Given the description of an element on the screen output the (x, y) to click on. 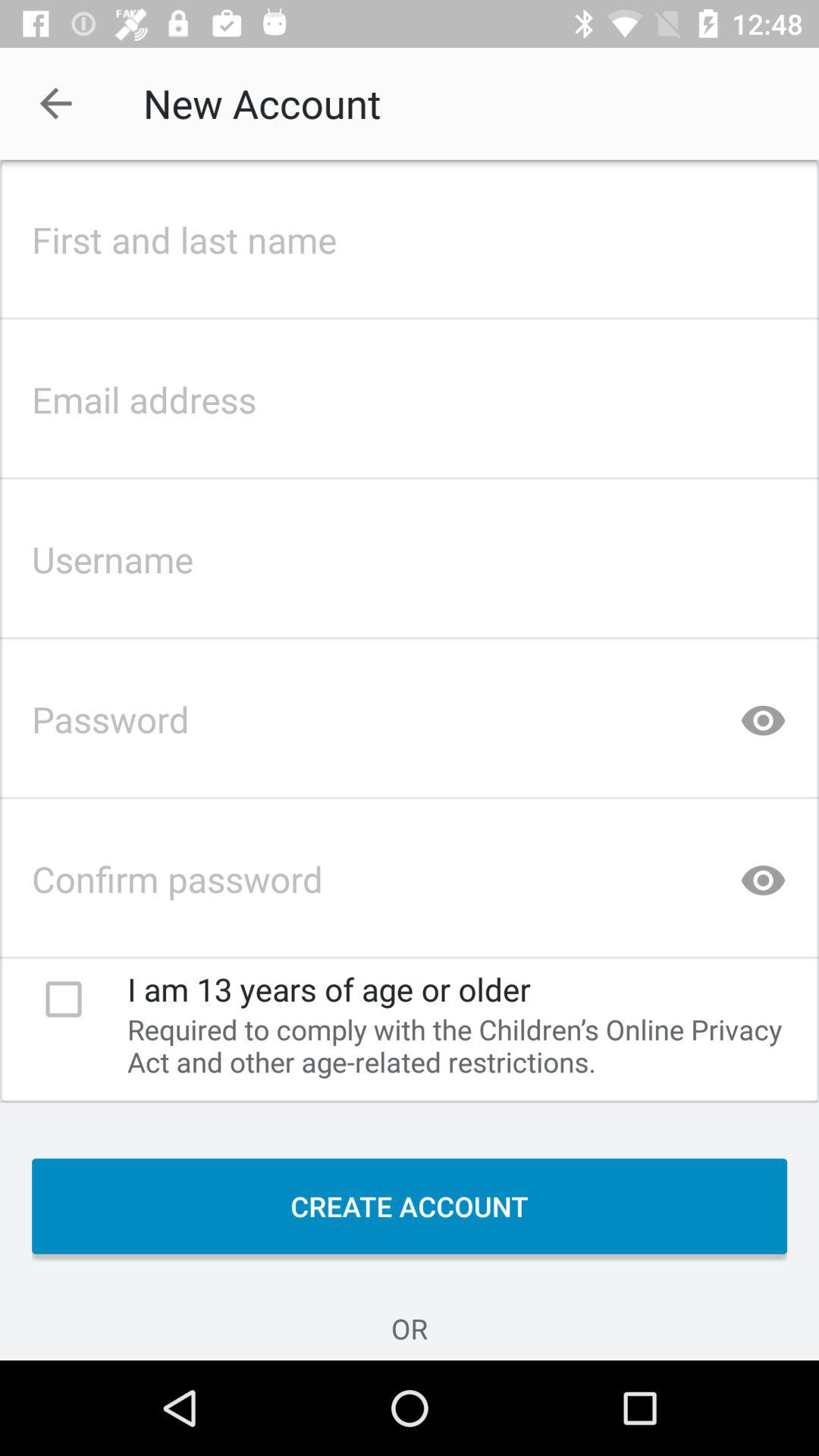
confirm password input (409, 874)
